Given the description of an element on the screen output the (x, y) to click on. 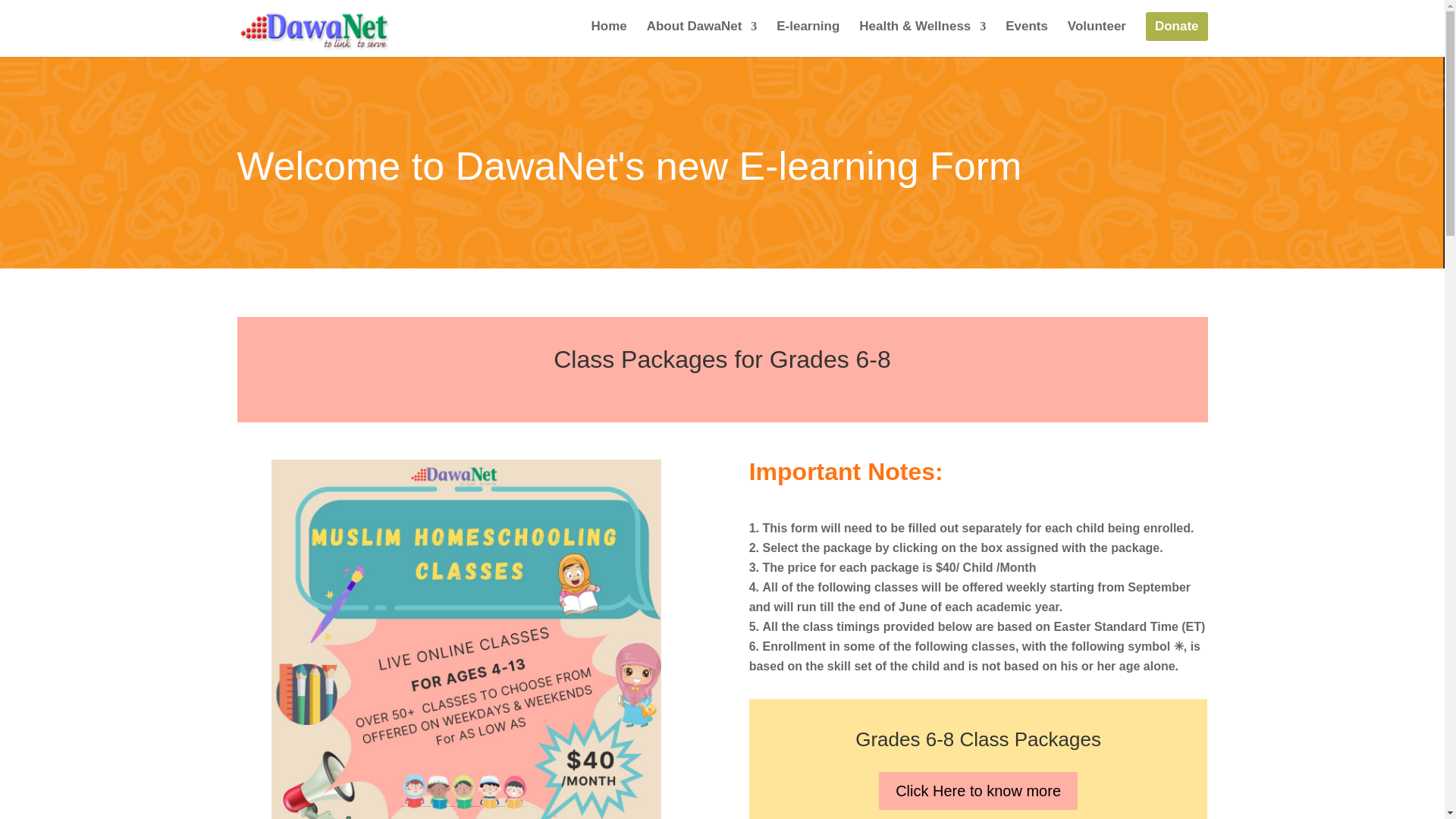
Click Here to know more (978, 790)
About DawaNet (701, 38)
E-learning (808, 38)
Events (1027, 38)
Home (609, 38)
Volunteer (1096, 38)
Donate (1176, 26)
